Given the description of an element on the screen output the (x, y) to click on. 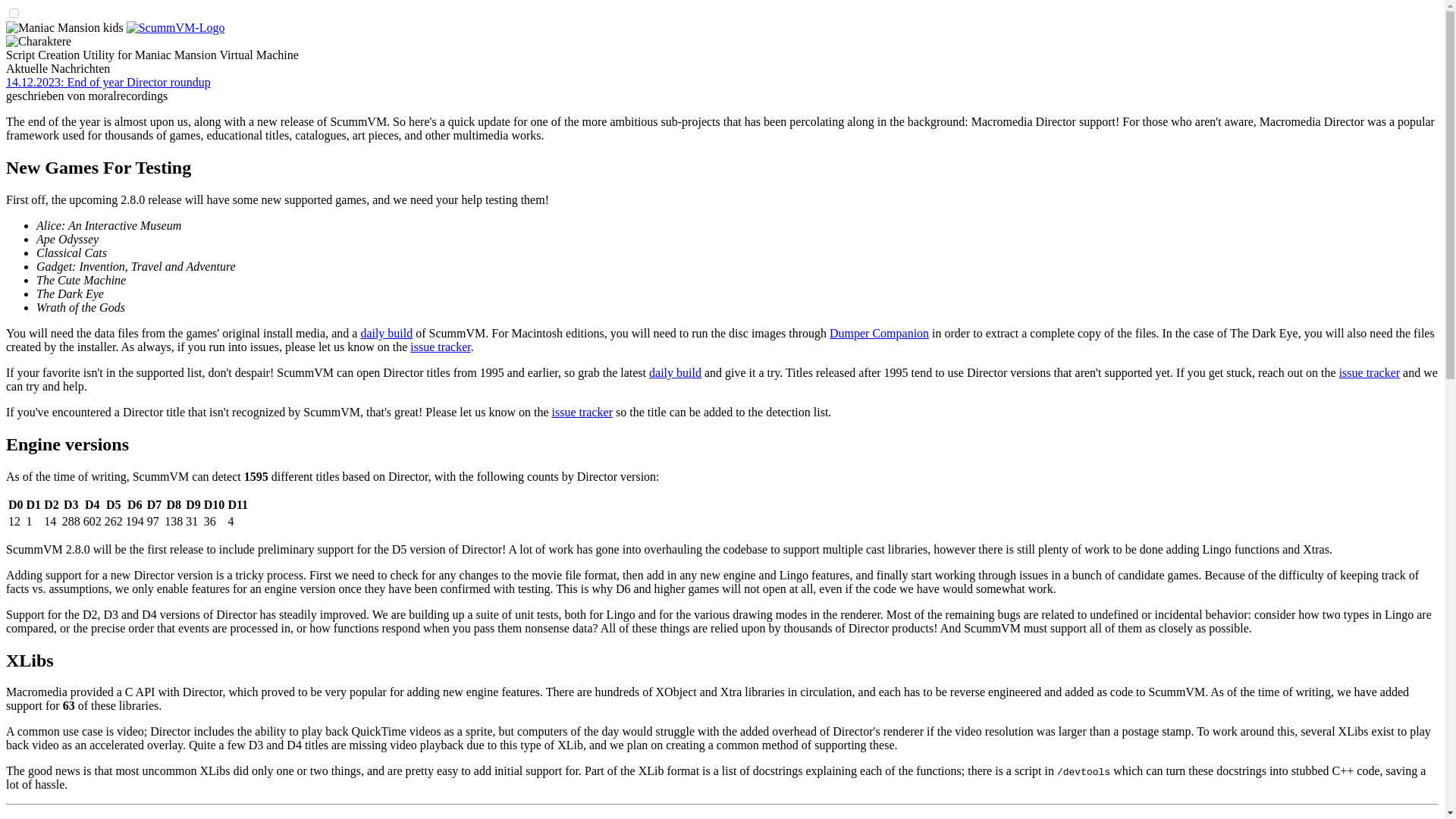
issue tracker (440, 346)
issue tracker (581, 411)
issue tracker (1369, 372)
ScummVM Discord (1131, 818)
daily build (385, 332)
on (13, 13)
14.12.2023: End of year Director roundup (108, 82)
Dumper Companion (878, 332)
daily build (675, 372)
